Given the description of an element on the screen output the (x, y) to click on. 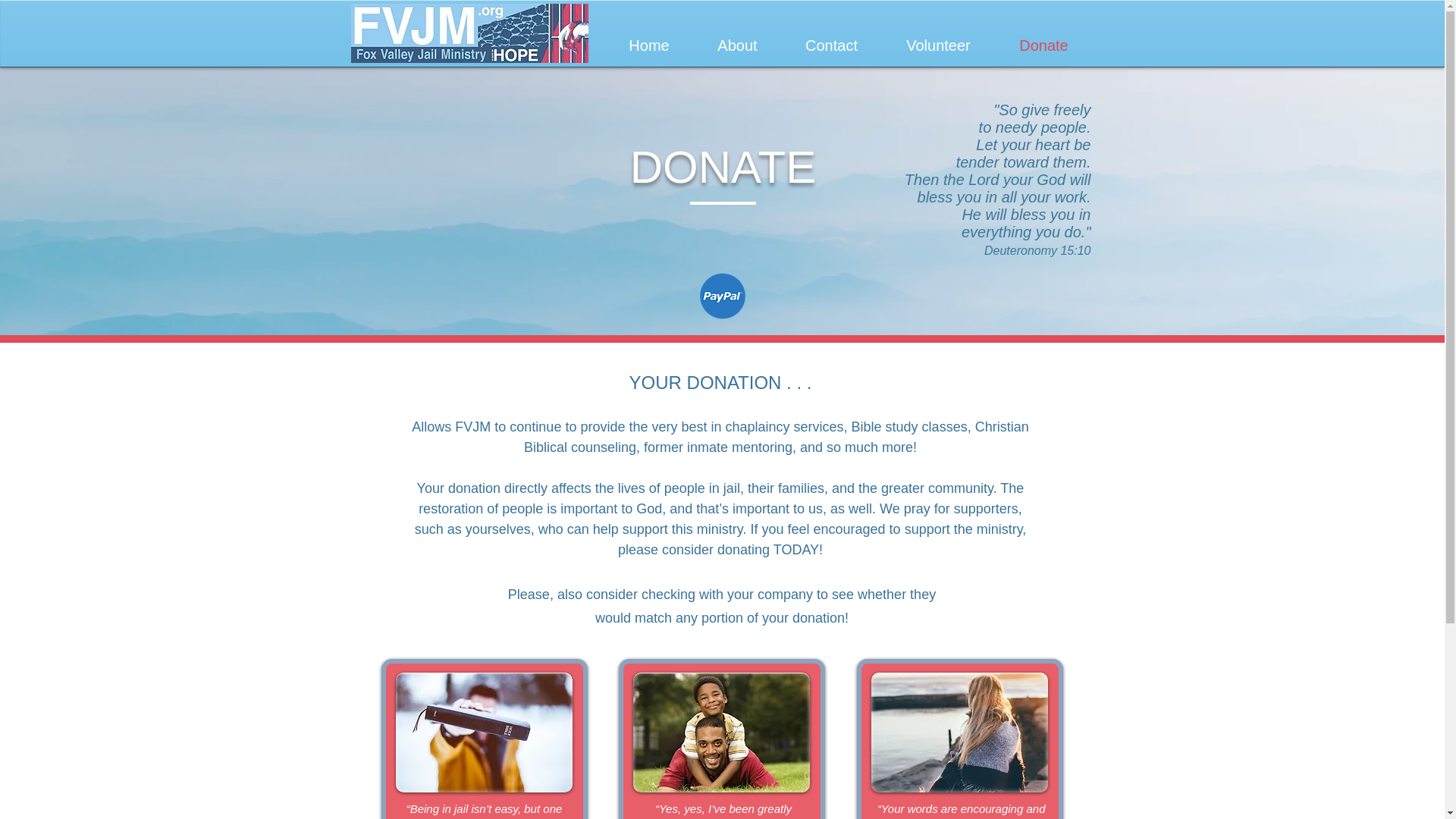
Contact (830, 45)
Home (649, 45)
Donate (1043, 45)
Volunteer (937, 45)
About (736, 45)
